Given the description of an element on the screen output the (x, y) to click on. 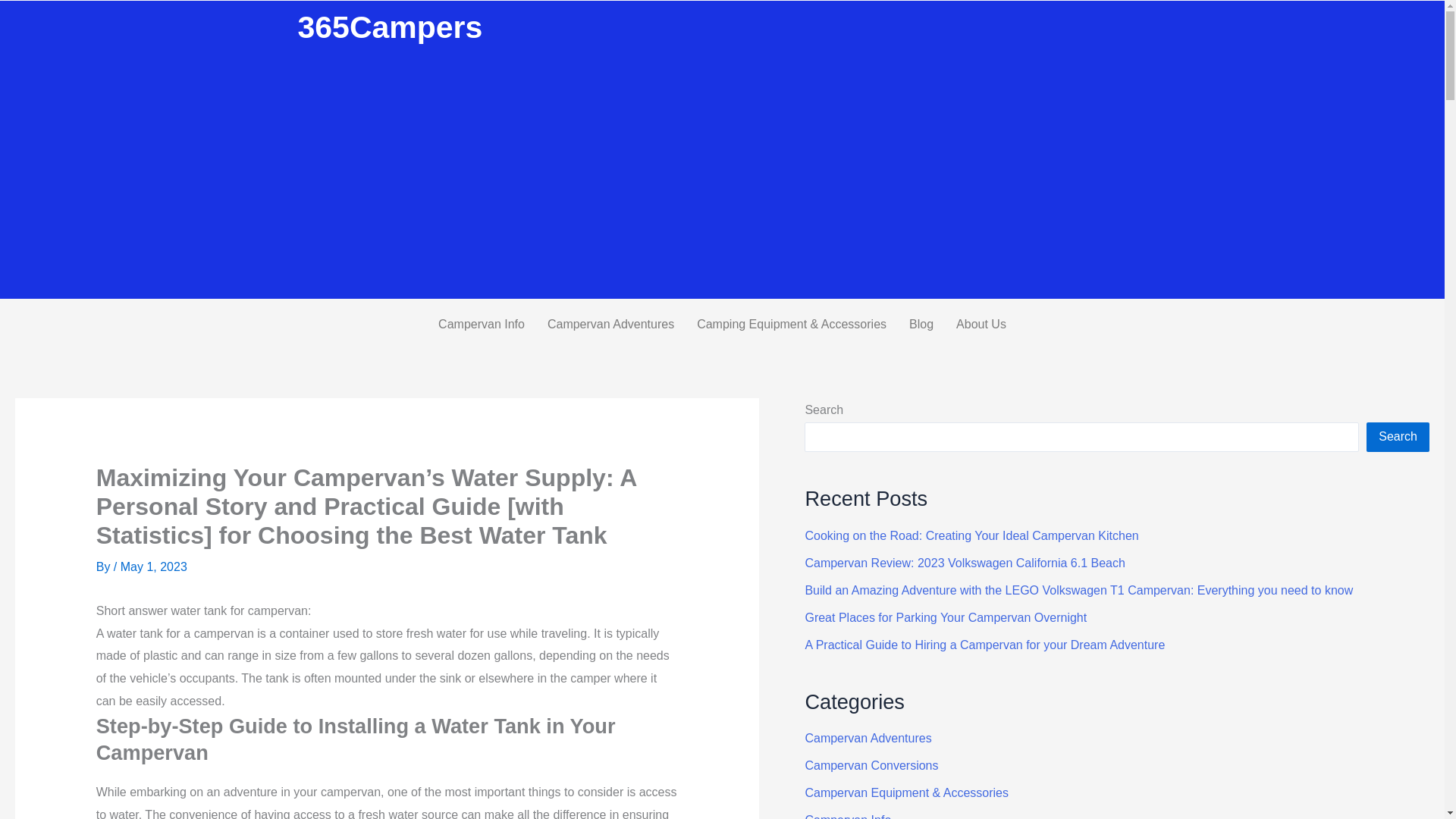
Blog (921, 324)
About Us (980, 324)
365Campers (389, 27)
Campervan Adventures (610, 324)
Campervan Info (480, 324)
